Given the description of an element on the screen output the (x, y) to click on. 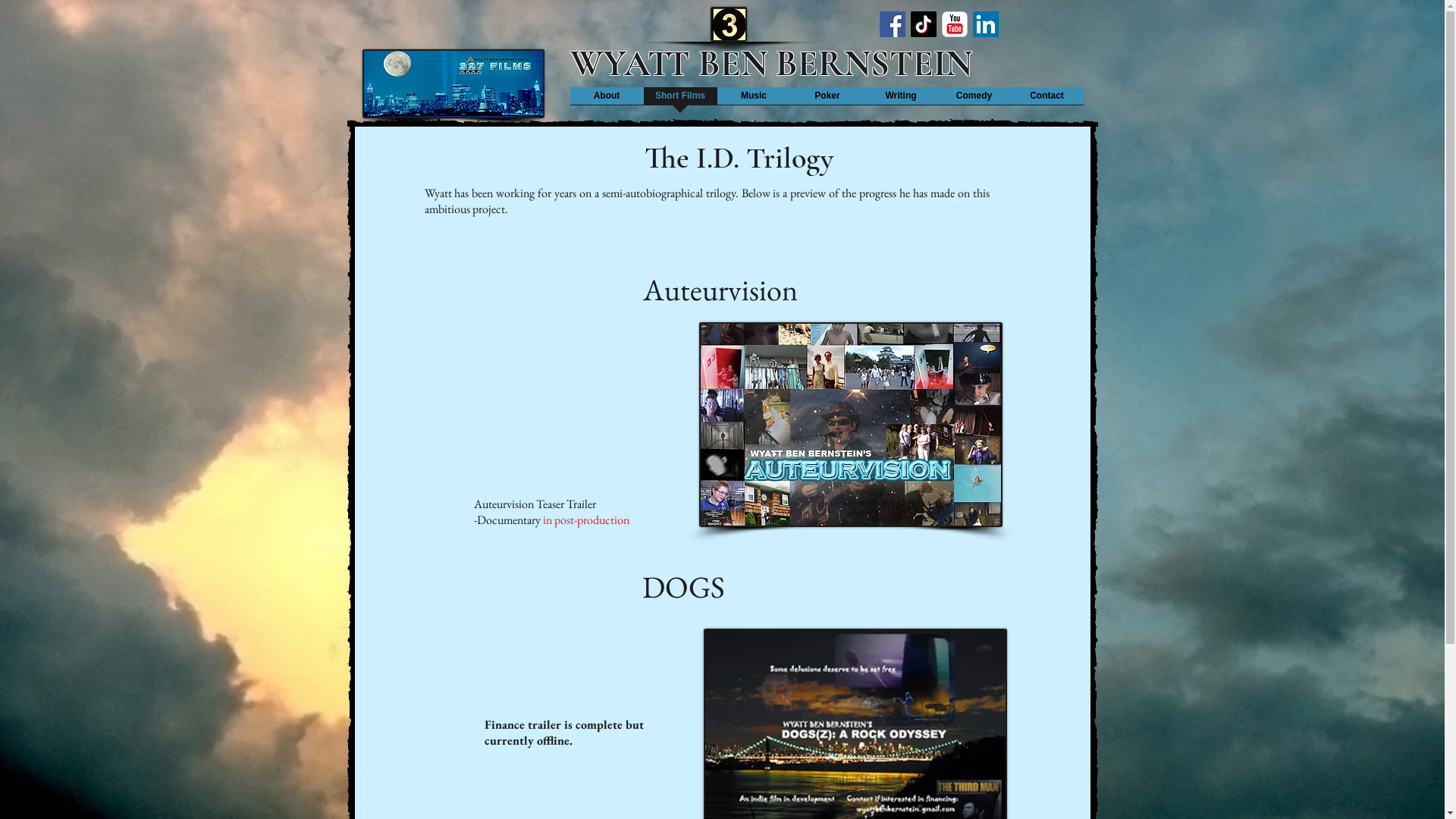
External YouTube Element type: hover (567, 405)
About Element type: text (606, 100)
Short Films Element type: text (679, 100)
Contact Element type: text (1046, 100)
Poker Element type: text (826, 100)
Writing Element type: text (901, 100)
Comedy Element type: text (973, 100)
Music Element type: text (753, 100)
